Given the description of an element on the screen output the (x, y) to click on. 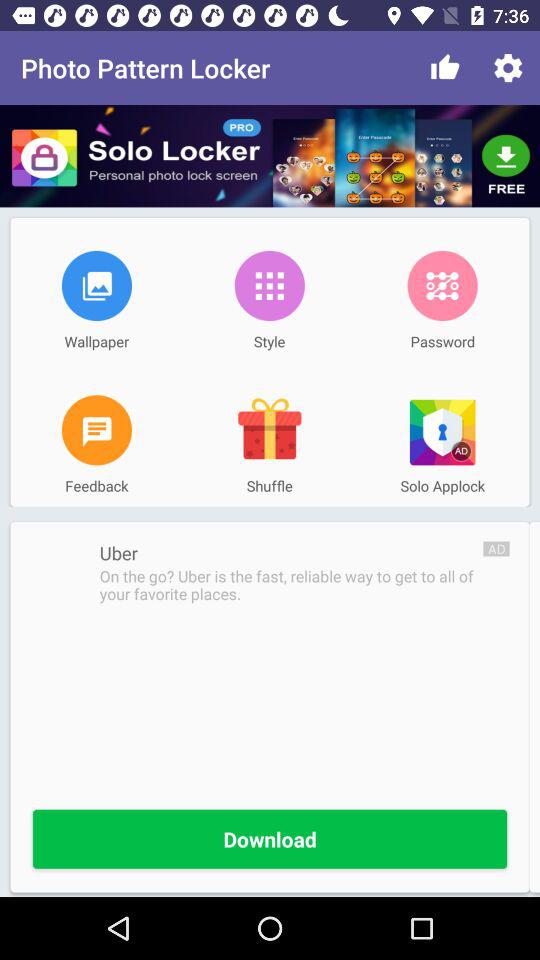
click on the go (291, 585)
